Given the description of an element on the screen output the (x, y) to click on. 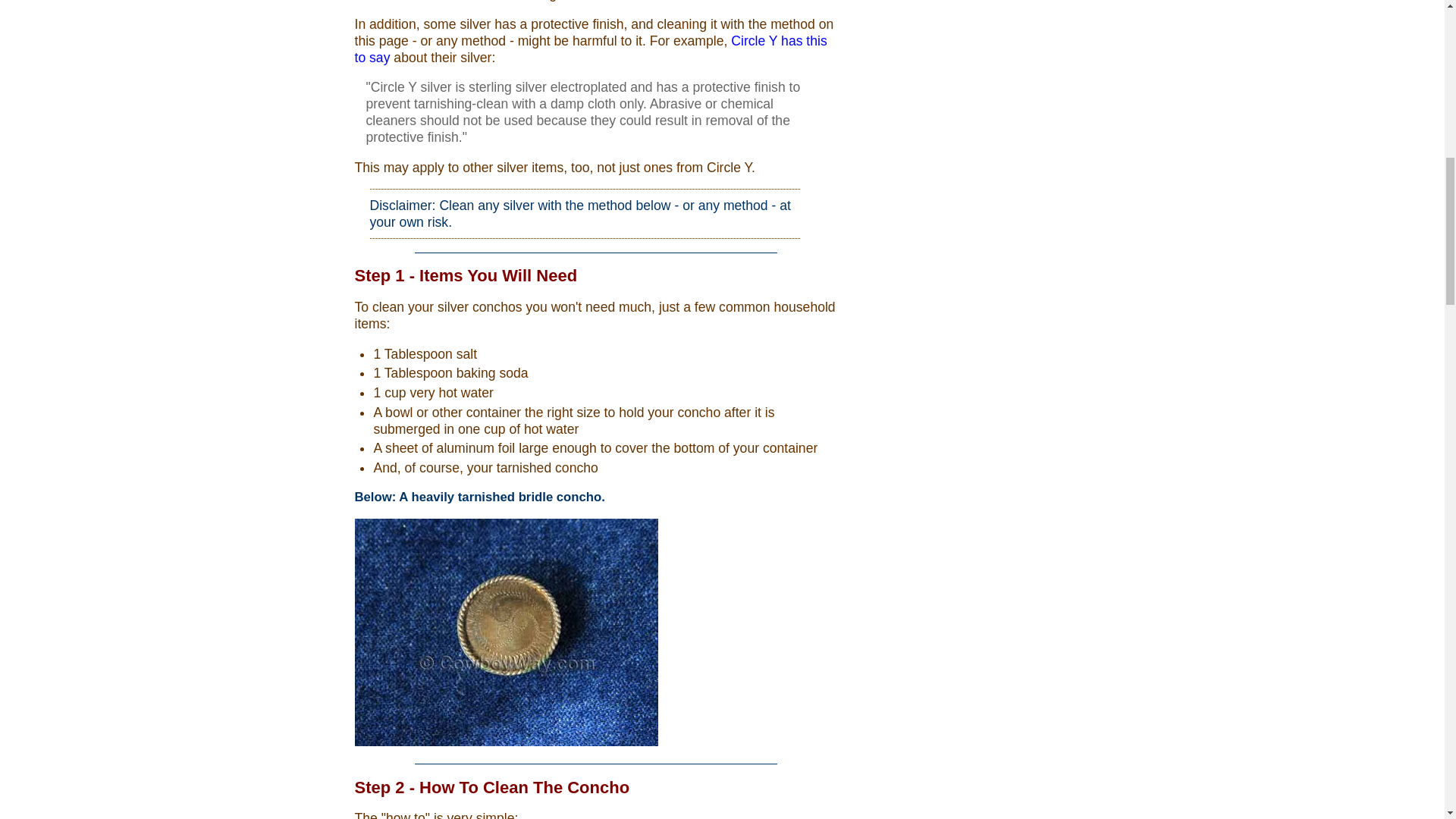
Circle Y has this to say (591, 49)
